Given the description of an element on the screen output the (x, y) to click on. 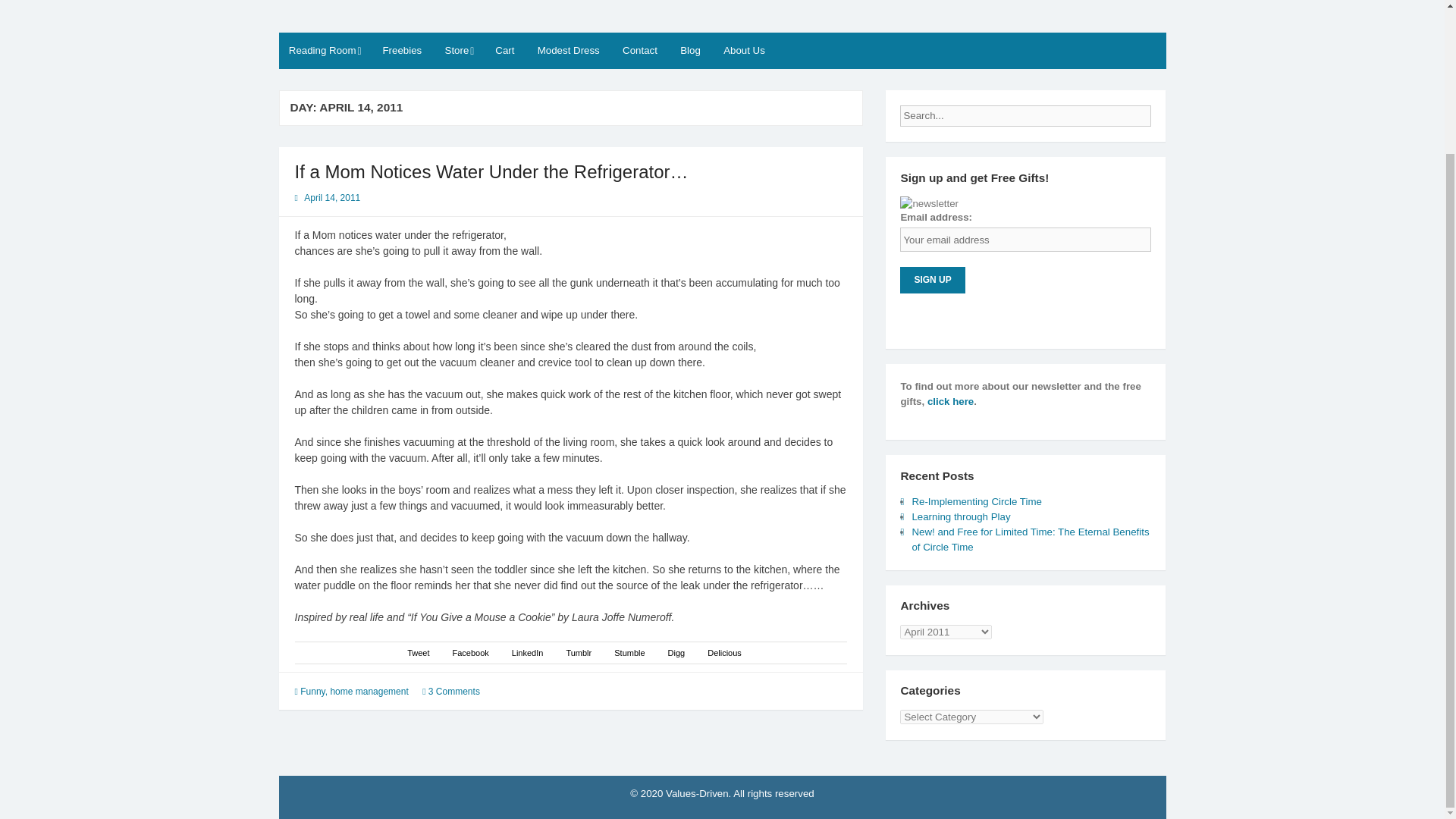
Search (1163, 110)
Freebies (401, 50)
Share on Delicious (724, 652)
Share on Tumblr (578, 652)
Search (1163, 110)
Share on LinkedIn (527, 652)
Share on Digg (676, 652)
Share on Facebook (469, 652)
Sign up (931, 279)
Reading Room (324, 50)
